Given the description of an element on the screen output the (x, y) to click on. 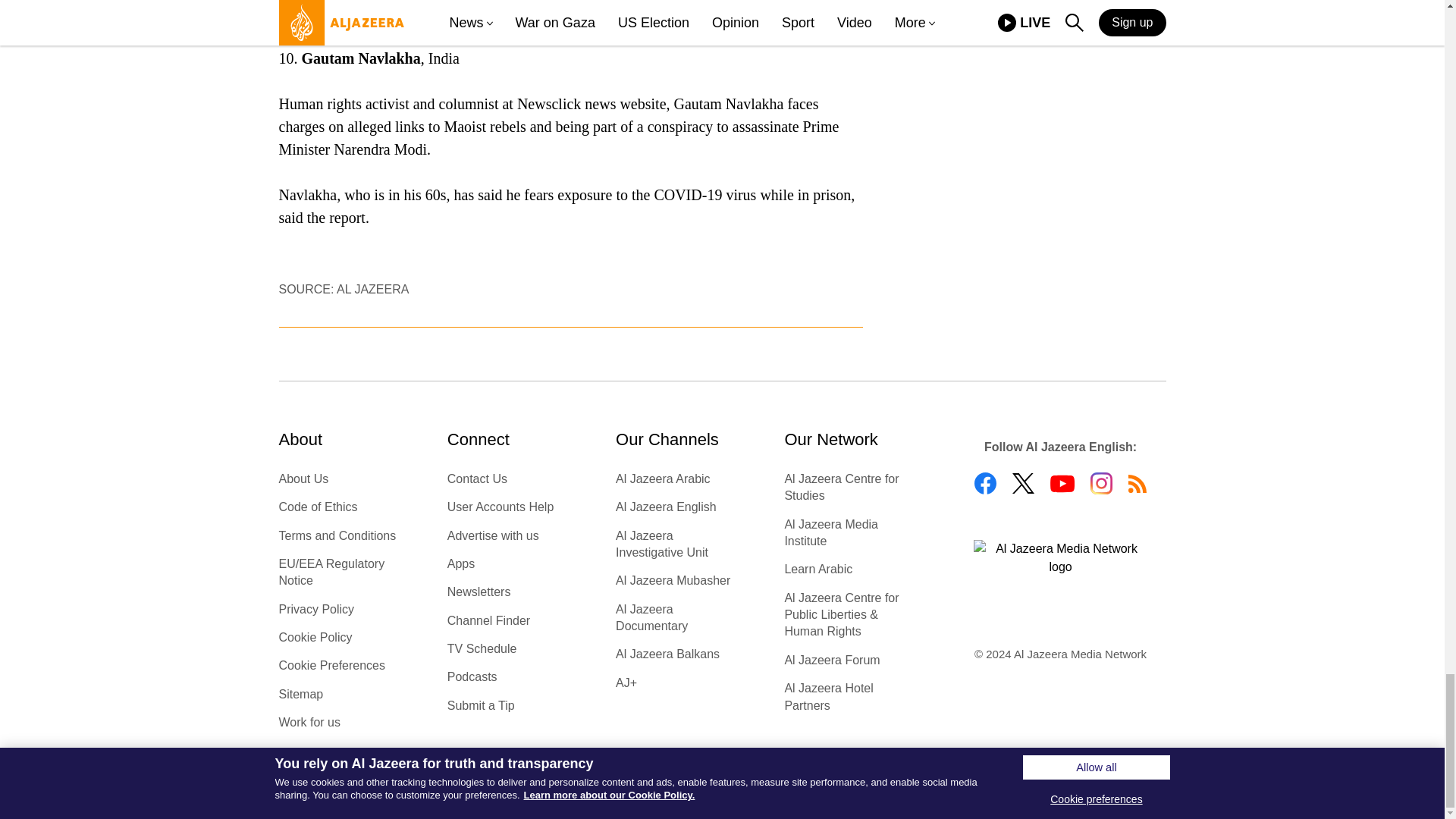
youtube (1061, 483)
facebook (984, 483)
twitter (1022, 483)
instagram-colored-outline (1101, 483)
rss (1137, 484)
